Given the description of an element on the screen output the (x, y) to click on. 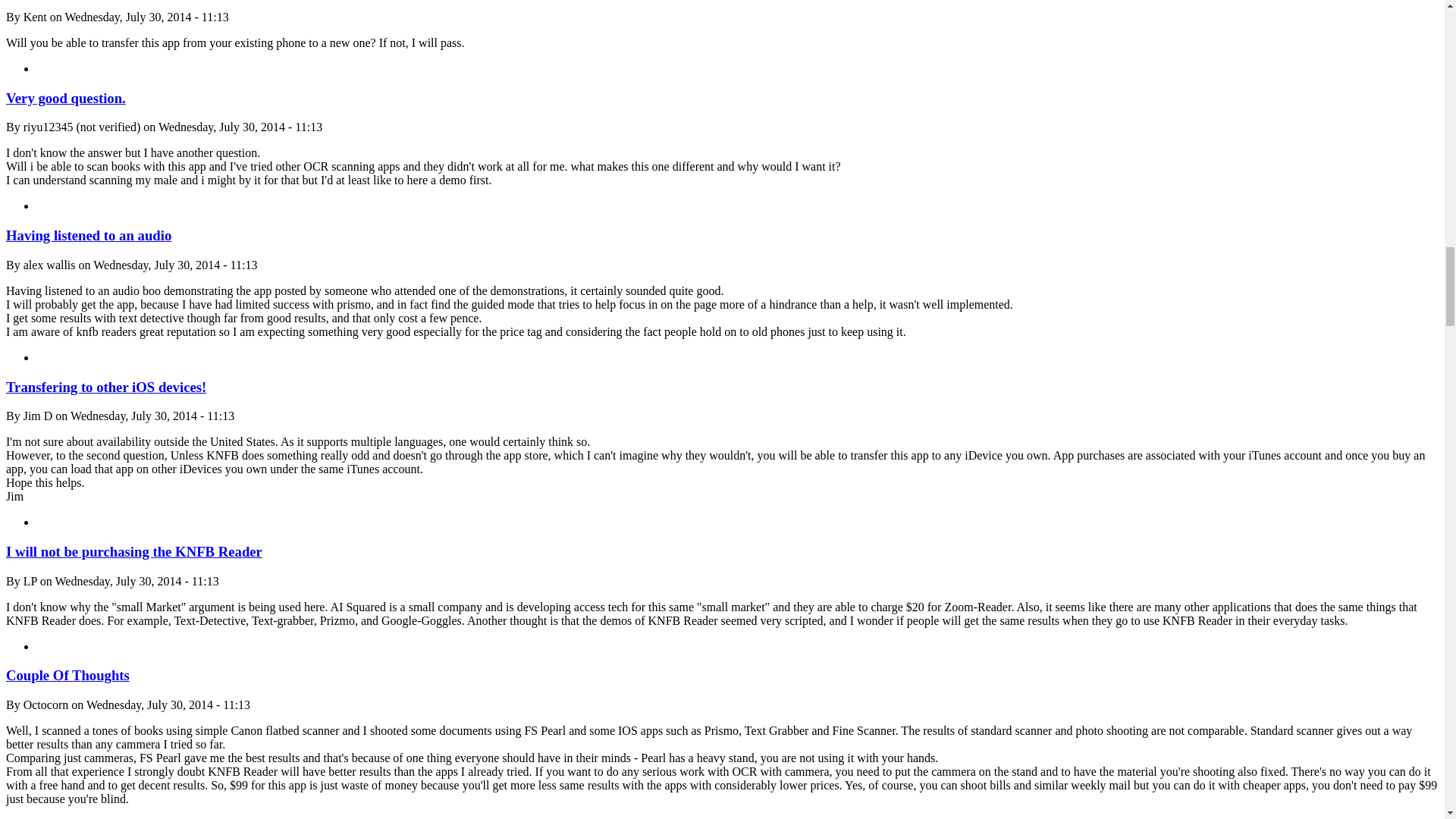
Transfering to other iOS devices! (105, 386)
Having listened to an audio (88, 235)
I will not be purchasing the KNFB Reader (133, 551)
Couple Of Thoughts (67, 675)
Very good question. (65, 98)
